Given the description of an element on the screen output the (x, y) to click on. 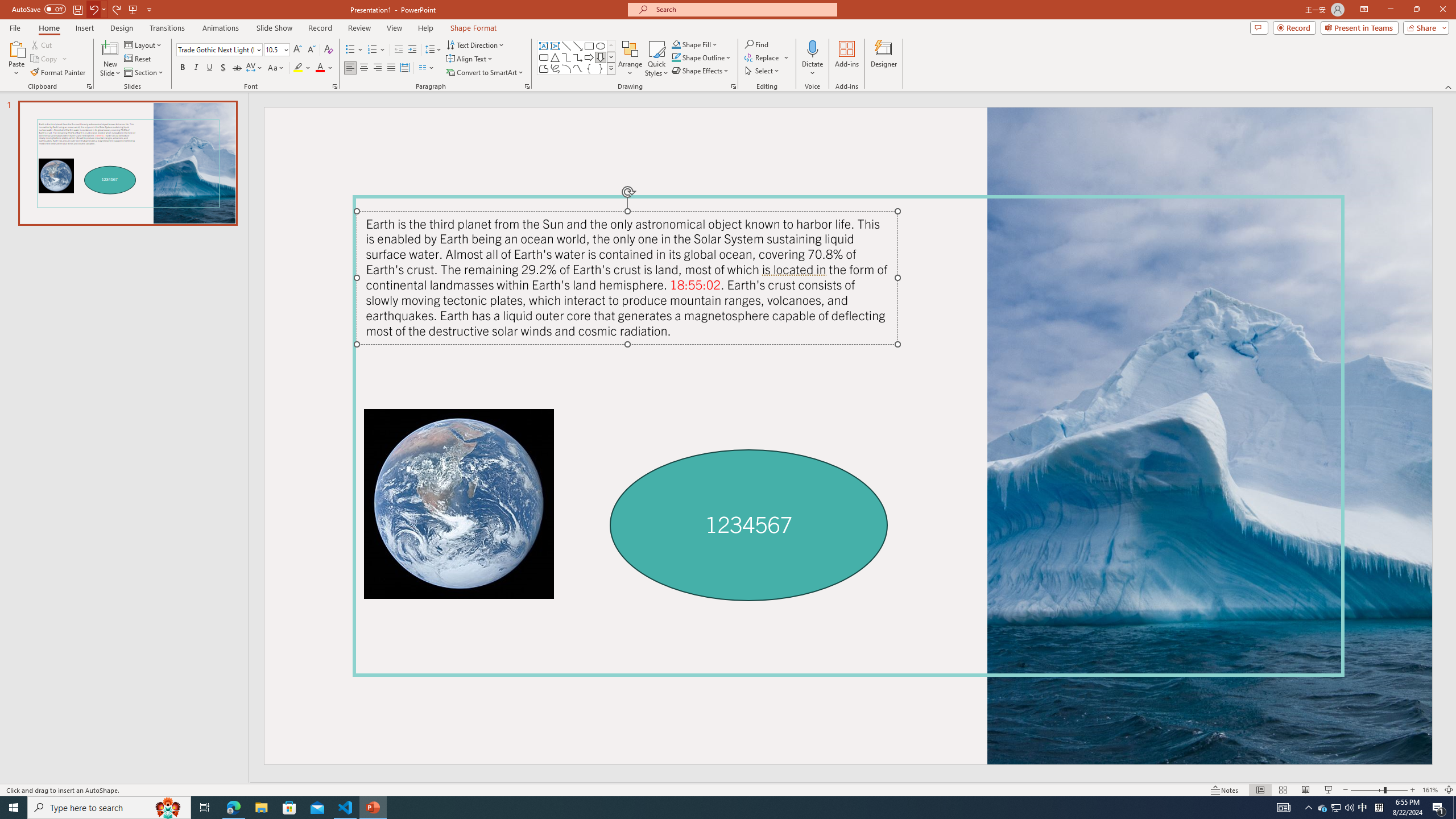
Shape Fill Aqua, Accent 2 (675, 44)
